Given the description of an element on the screen output the (x, y) to click on. 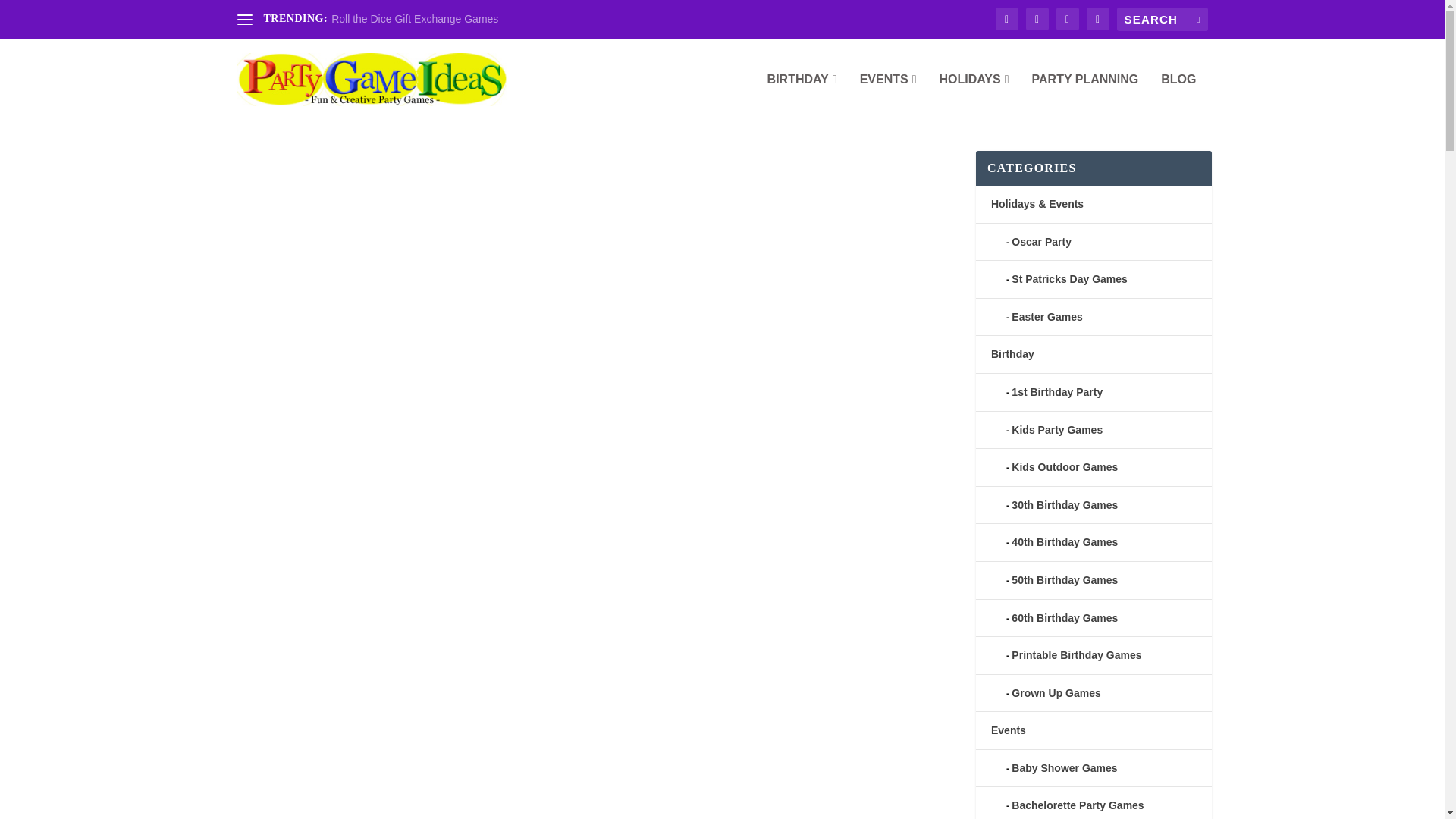
Search for: (1161, 19)
Roll the Dice Gift Exchange Games (414, 19)
HOLIDAYS (974, 96)
EVENTS (888, 96)
BIRTHDAY (802, 96)
